Given the description of an element on the screen output the (x, y) to click on. 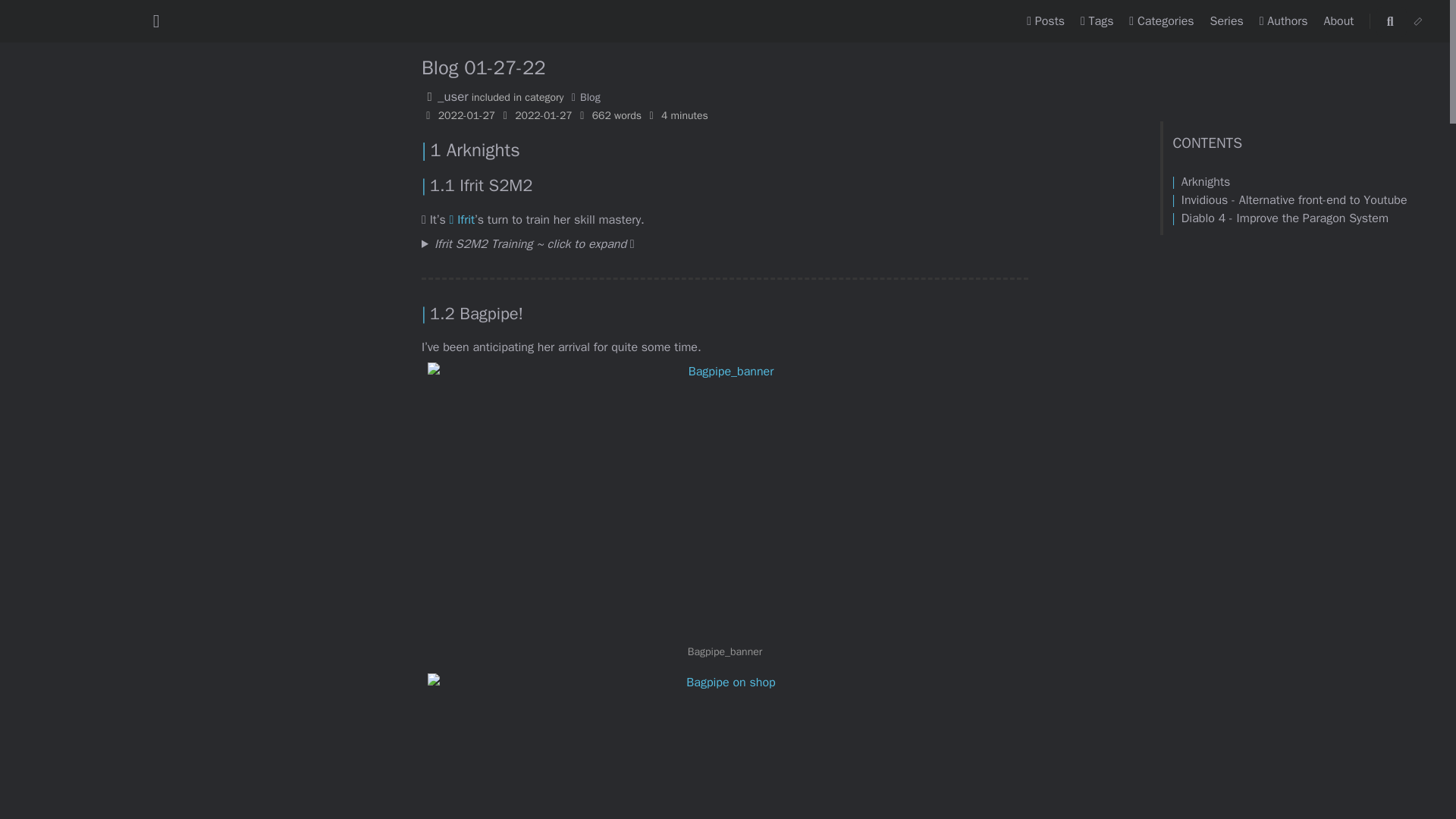
Authors (1285, 20)
Categories (1162, 20)
Blog (583, 97)
Posts (1047, 20)
Switch Theme (1417, 20)
Diablo 4 - Improve the Paragon System (1280, 218)
Series (1227, 20)
Arknights (1417, 20)
Invidious - Alternative front-end to Youtube (1201, 181)
